Given the description of an element on the screen output the (x, y) to click on. 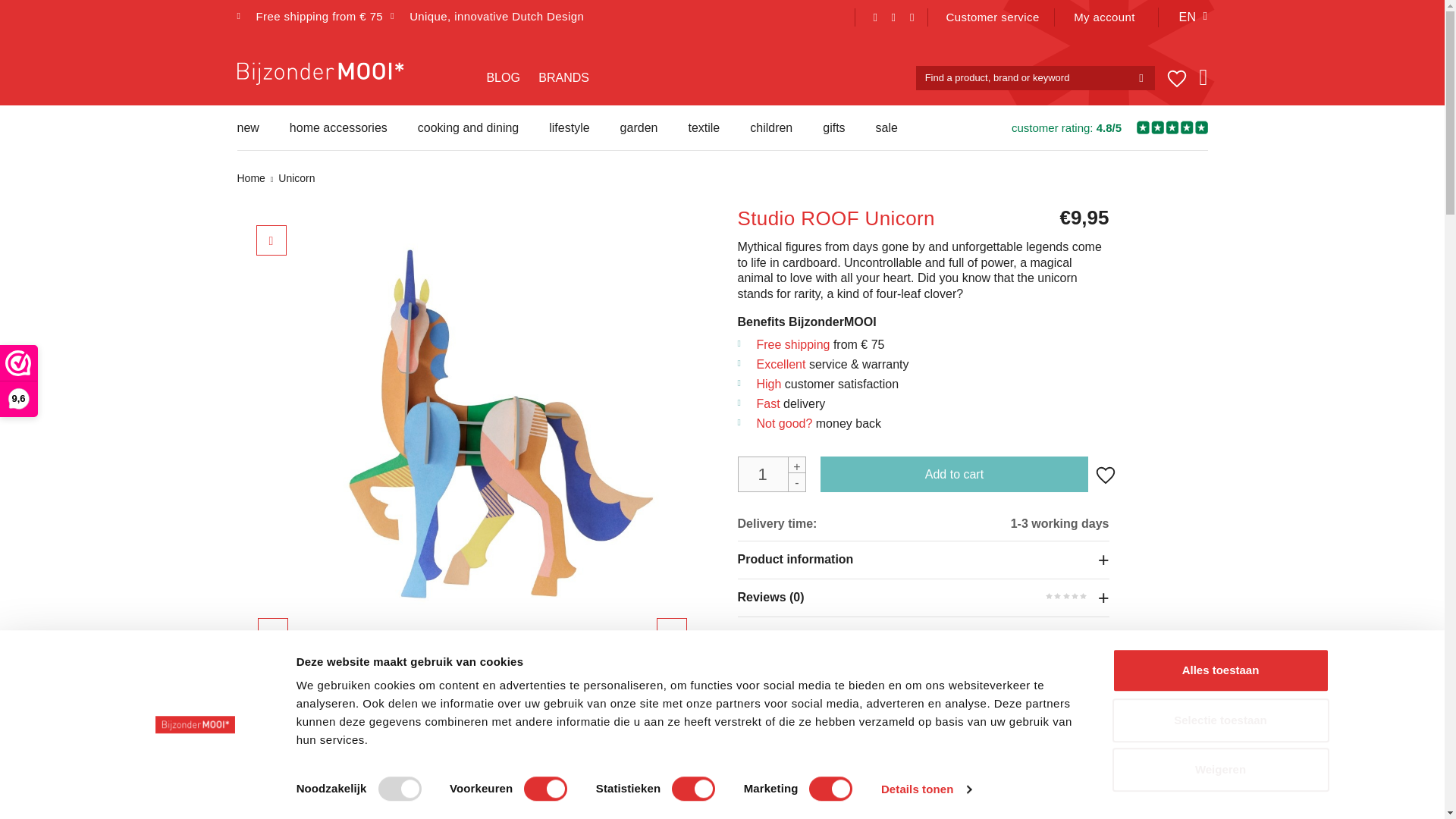
Details tonen (925, 789)
Selectie toestaan (1219, 720)
My account (1104, 16)
Weigeren (1219, 769)
Customer service (992, 16)
1 (770, 474)
